Given the description of an element on the screen output the (x, y) to click on. 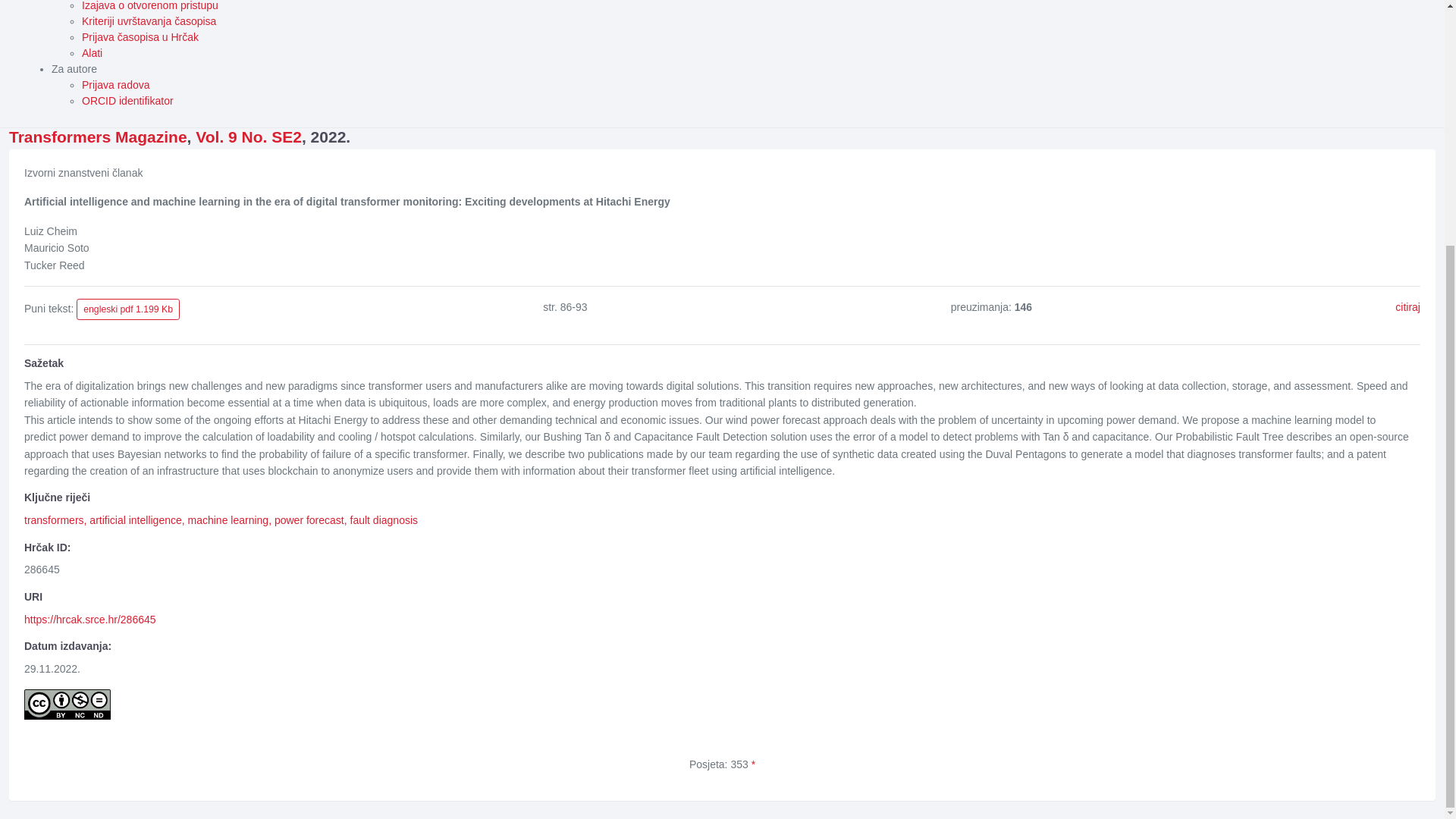
Prijava radova (115, 84)
citiraj (1407, 306)
engleski pdf 1.199 Kb (128, 309)
Transformers Magazine (97, 136)
Alati (91, 52)
Za autore (73, 69)
Izajava o otvorenom pristupu (149, 5)
ORCID identifikator (127, 101)
Vol. 9 No. SE2 (248, 136)
